Given the description of an element on the screen output the (x, y) to click on. 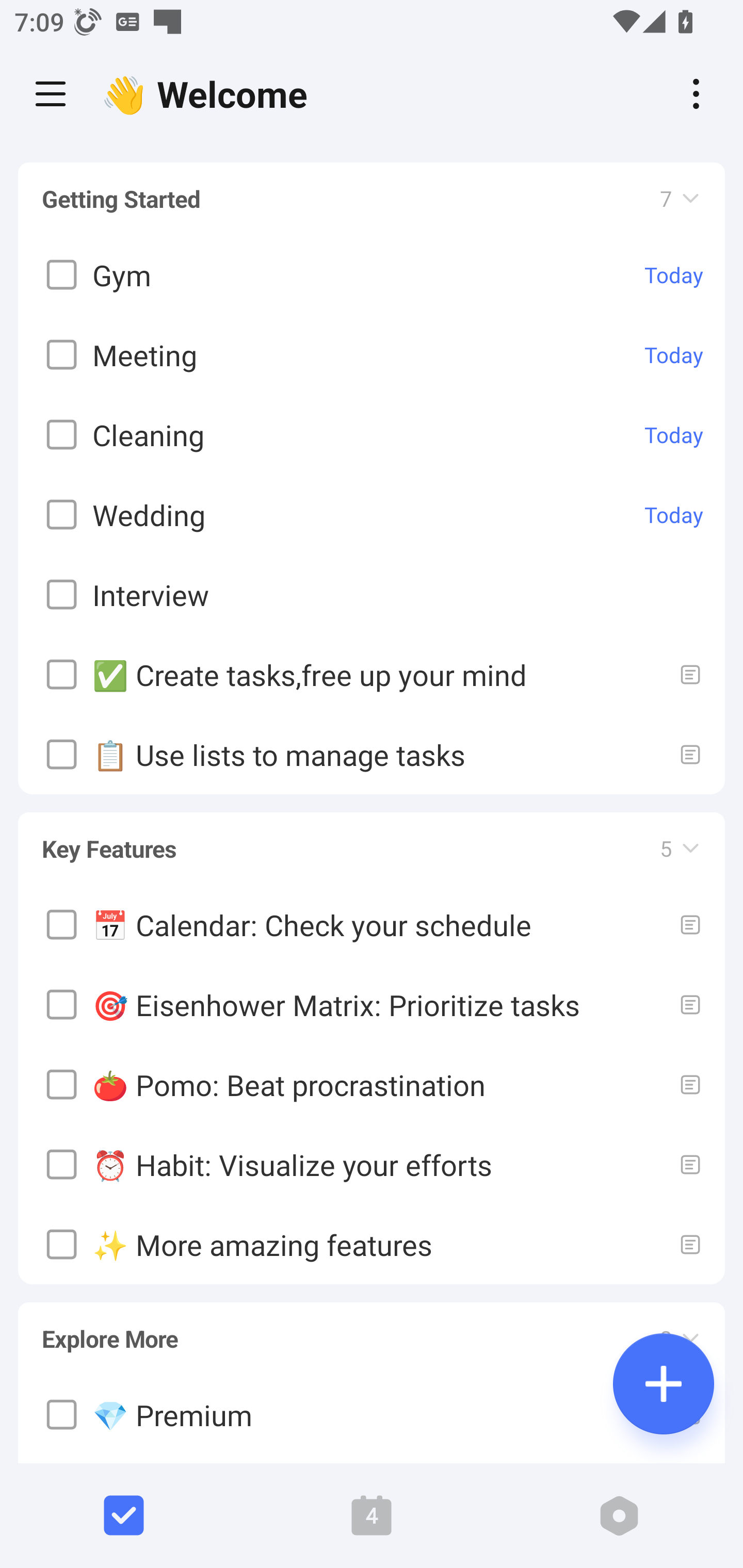
👋 Welcome (209, 93)
Getting Started 7 (371, 199)
Gym Today (371, 275)
Today (673, 275)
Meeting Today (371, 355)
Today (673, 355)
Cleaning Today (371, 435)
Today (673, 435)
Wedding Today (371, 515)
Today (673, 514)
Interview (371, 595)
✅ Create tasks,free up your mind (371, 675)
📋 Use lists to manage tasks (371, 754)
Key Features 5 (371, 839)
📅 Calendar: Check your schedule (371, 924)
🎯 Eisenhower Matrix: Prioritize tasks (371, 1004)
🍅 Pomo: Beat procrastination (371, 1084)
⏰ Habit: Visualize your efforts (371, 1164)
✨ More amazing features (371, 1244)
Explore More 2 (371, 1329)
💎 Premium (371, 1415)
